Given the description of an element on the screen output the (x, y) to click on. 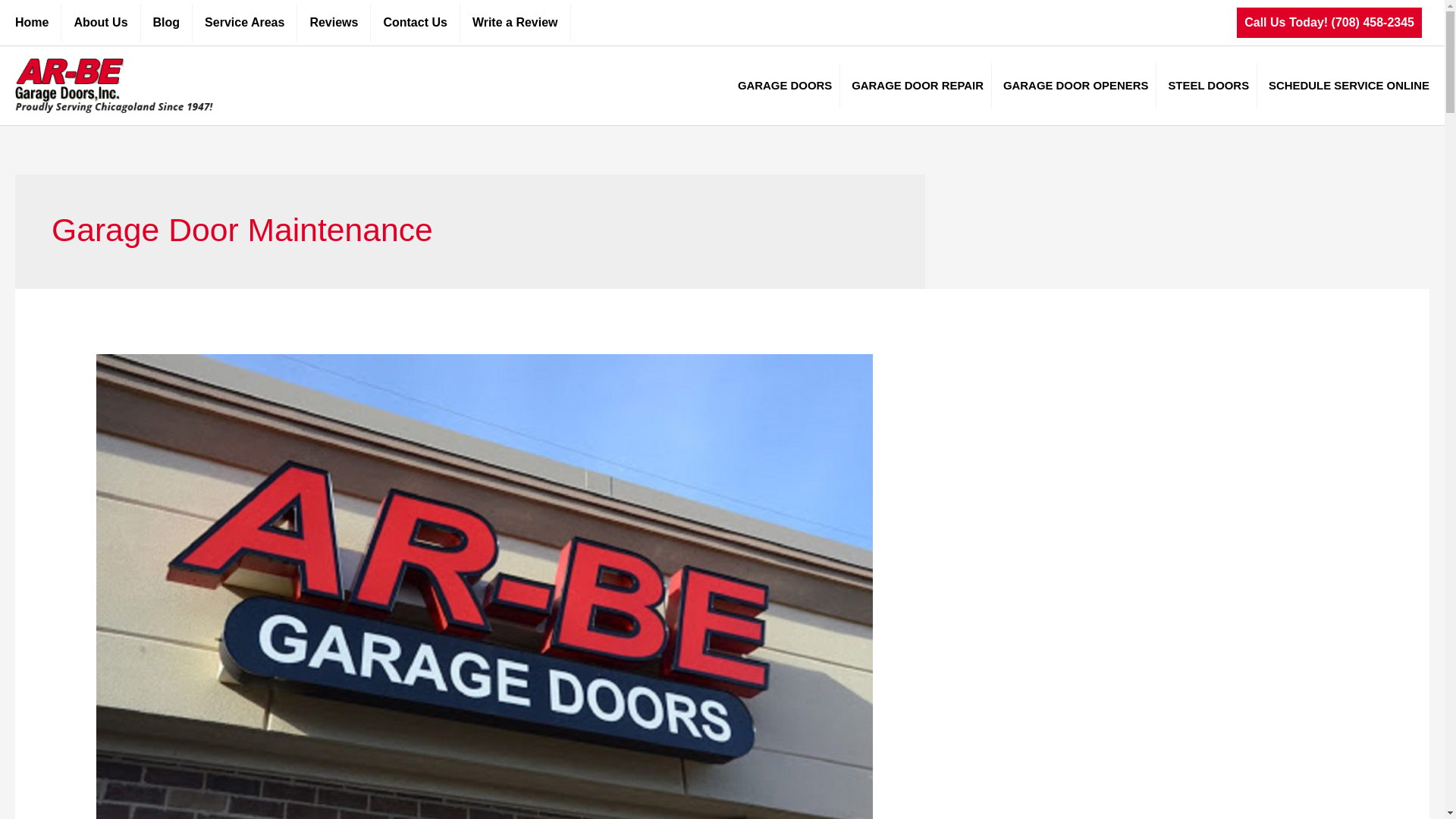
GARAGE DOORS (783, 85)
STEEL DOORS (1206, 85)
Service Areas (244, 22)
Blog (166, 22)
Contact Us (414, 22)
GARAGE DOOR OPENERS (1073, 85)
SCHEDULE SERVICE ONLINE (1343, 85)
About Us (100, 22)
GARAGE DOOR REPAIR (915, 85)
Reviews (333, 22)
Write a Review (515, 22)
Home (37, 22)
